Given the description of an element on the screen output the (x, y) to click on. 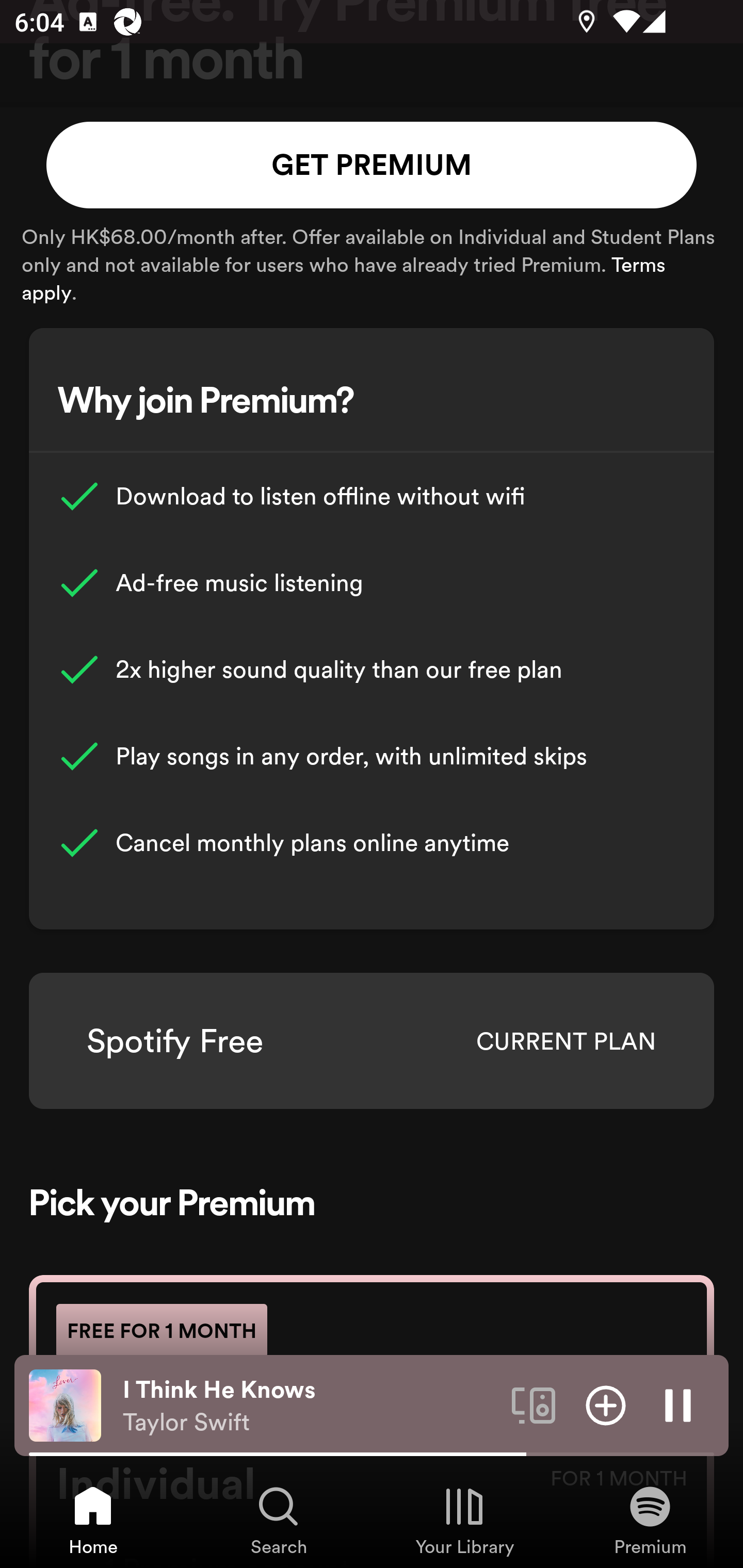
GET PREMIUM (371, 165)
I Think He Knows Taylor Swift (309, 1405)
The cover art of the currently playing track (64, 1404)
Connect to a device. Opens the devices menu (533, 1404)
Add item (605, 1404)
Pause (677, 1404)
Home, Tab 1 of 4 Home Home (92, 1519)
Search, Tab 2 of 4 Search Search (278, 1519)
Your Library, Tab 3 of 4 Your Library Your Library (464, 1519)
Premium, Tab 4 of 4 Premium Premium (650, 1519)
